Given the description of an element on the screen output the (x, y) to click on. 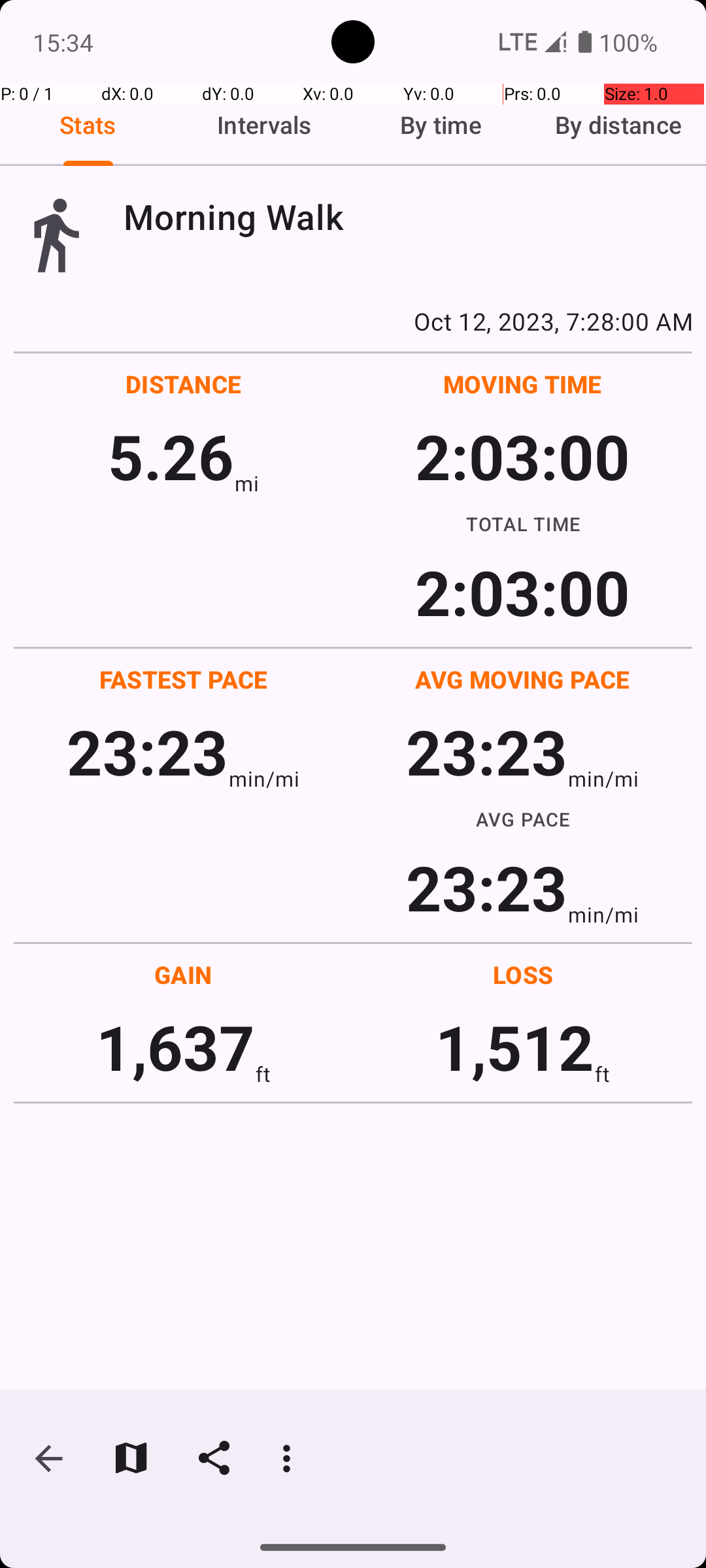
Morning Walk Element type: android.widget.TextView (407, 216)
Oct 12, 2023, 7:28:00 AM Element type: android.widget.TextView (352, 320)
5.26 Element type: android.widget.TextView (170, 455)
2:03:00 Element type: android.widget.TextView (522, 455)
23:23 Element type: android.widget.TextView (147, 750)
1,637 Element type: android.widget.TextView (175, 1045)
1,512 Element type: android.widget.TextView (514, 1045)
